Given the description of an element on the screen output the (x, y) to click on. 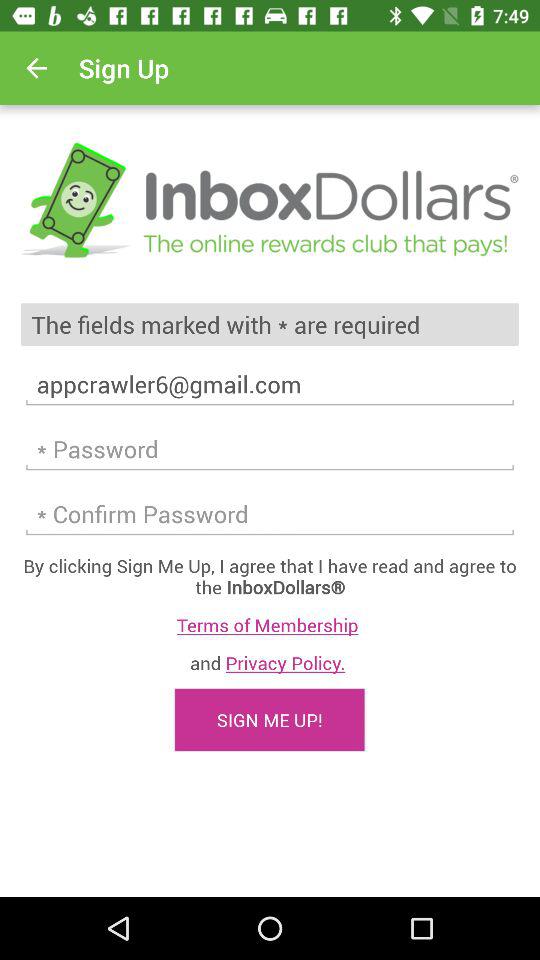
tap item above the and privacy policy.  icon (270, 624)
